Given the description of an element on the screen output the (x, y) to click on. 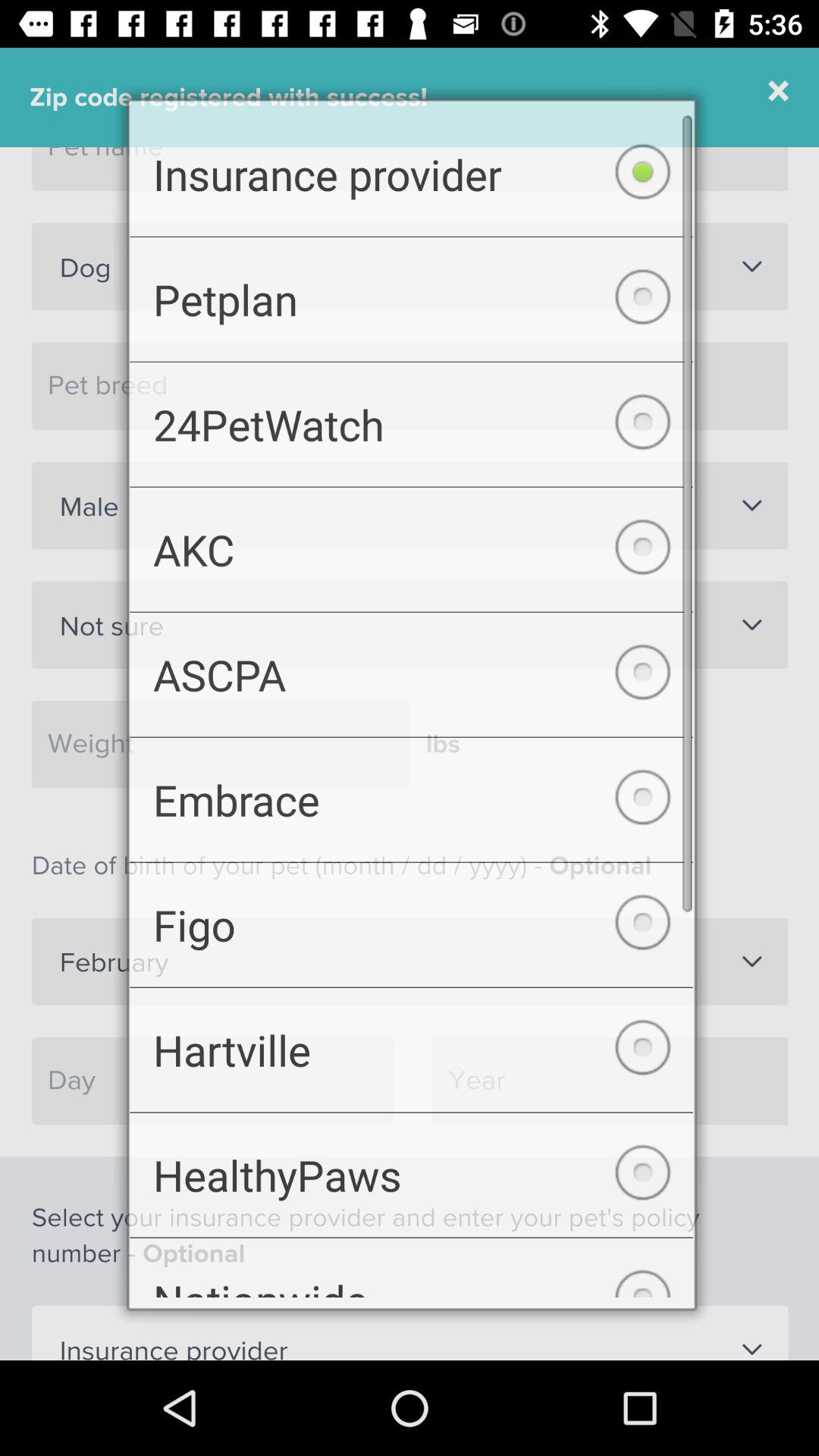
open insurance provider checkbox (411, 159)
